Given the description of an element on the screen output the (x, y) to click on. 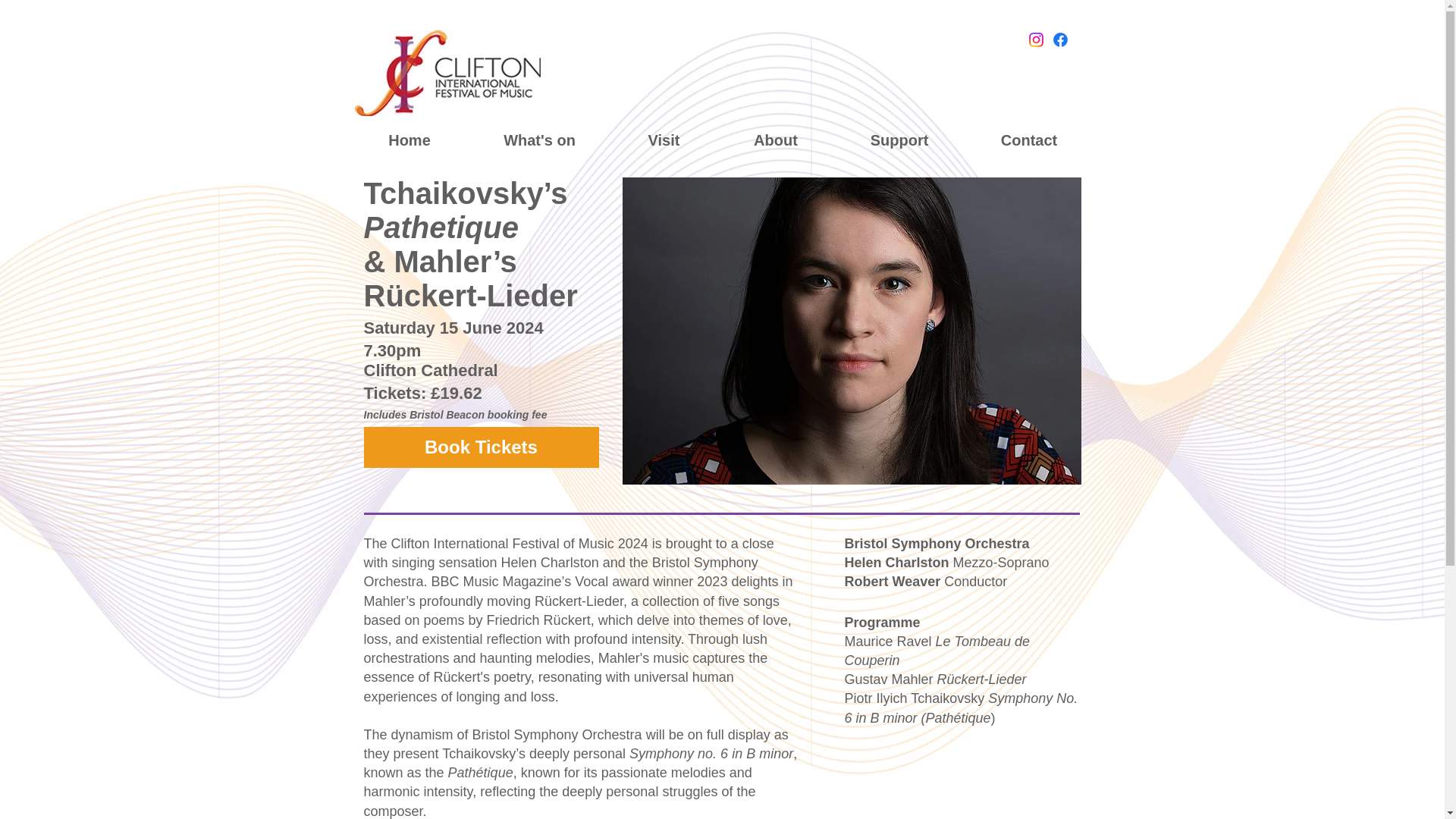
Support (898, 140)
Home (408, 140)
Contact (1028, 140)
About (775, 140)
What's on (539, 140)
Book Tickets (481, 446)
Visit (664, 140)
